Given the description of an element on the screen output the (x, y) to click on. 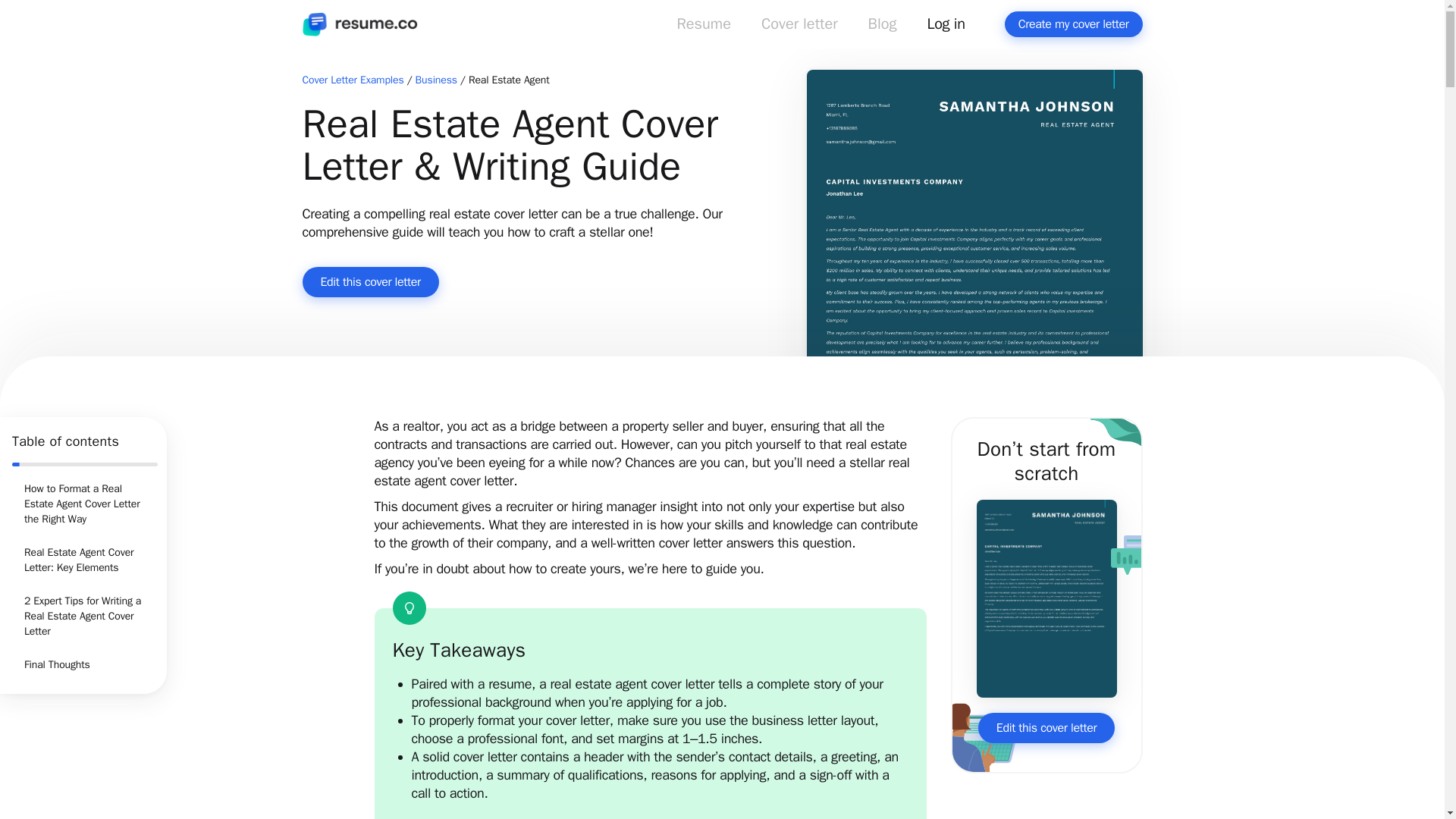
Create my cover letter (1073, 23)
Edit this cover letter (369, 281)
Cover letter (799, 26)
Resume (703, 26)
Log in (945, 26)
Edit this cover letter (1046, 727)
Cover Letter Examples (352, 79)
Business (435, 79)
Blog (882, 26)
